Given the description of an element on the screen output the (x, y) to click on. 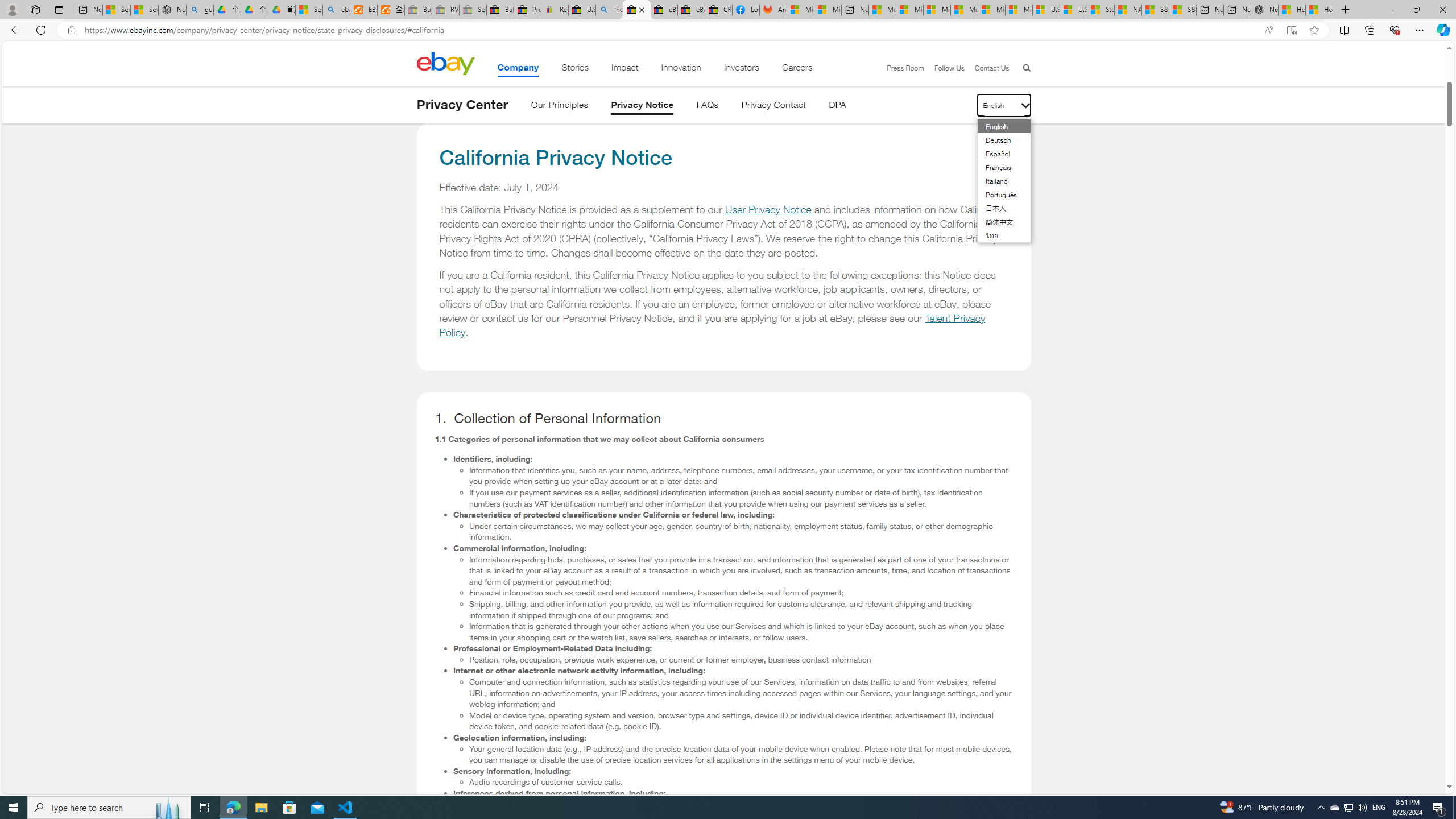
ebay - Search (336, 9)
Enter Immersive Reader (F9) (1291, 29)
Buy Auto Parts & Accessories | eBay - Sleeping (418, 9)
Refresh (40, 29)
U.S. State Privacy Disclosures - eBay Inc. (636, 9)
Tab actions menu (58, 9)
How to Use a Monitor With Your Closed Laptop (1319, 9)
